Given the description of an element on the screen output the (x, y) to click on. 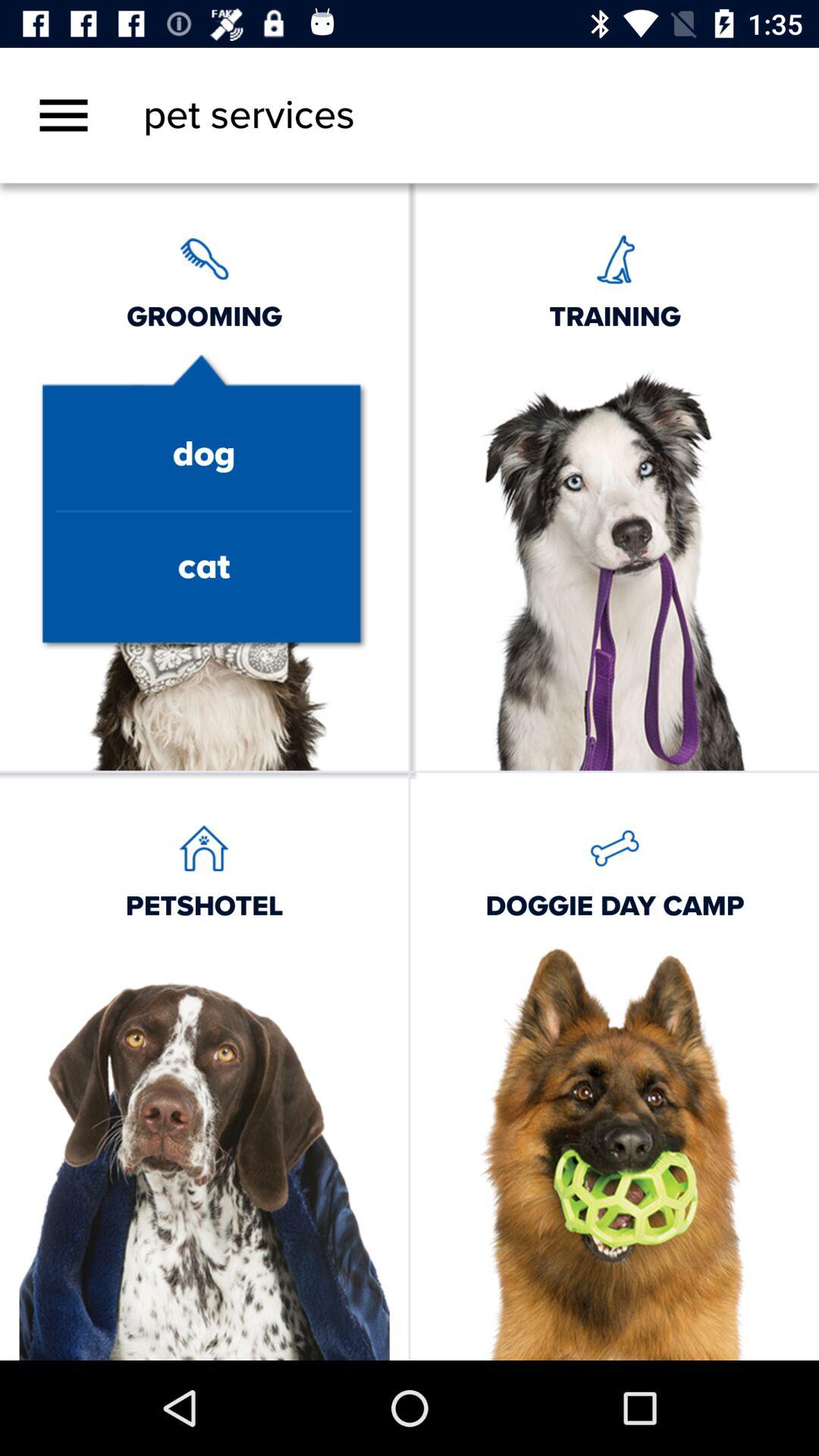
swipe until the dog (203, 454)
